Given the description of an element on the screen output the (x, y) to click on. 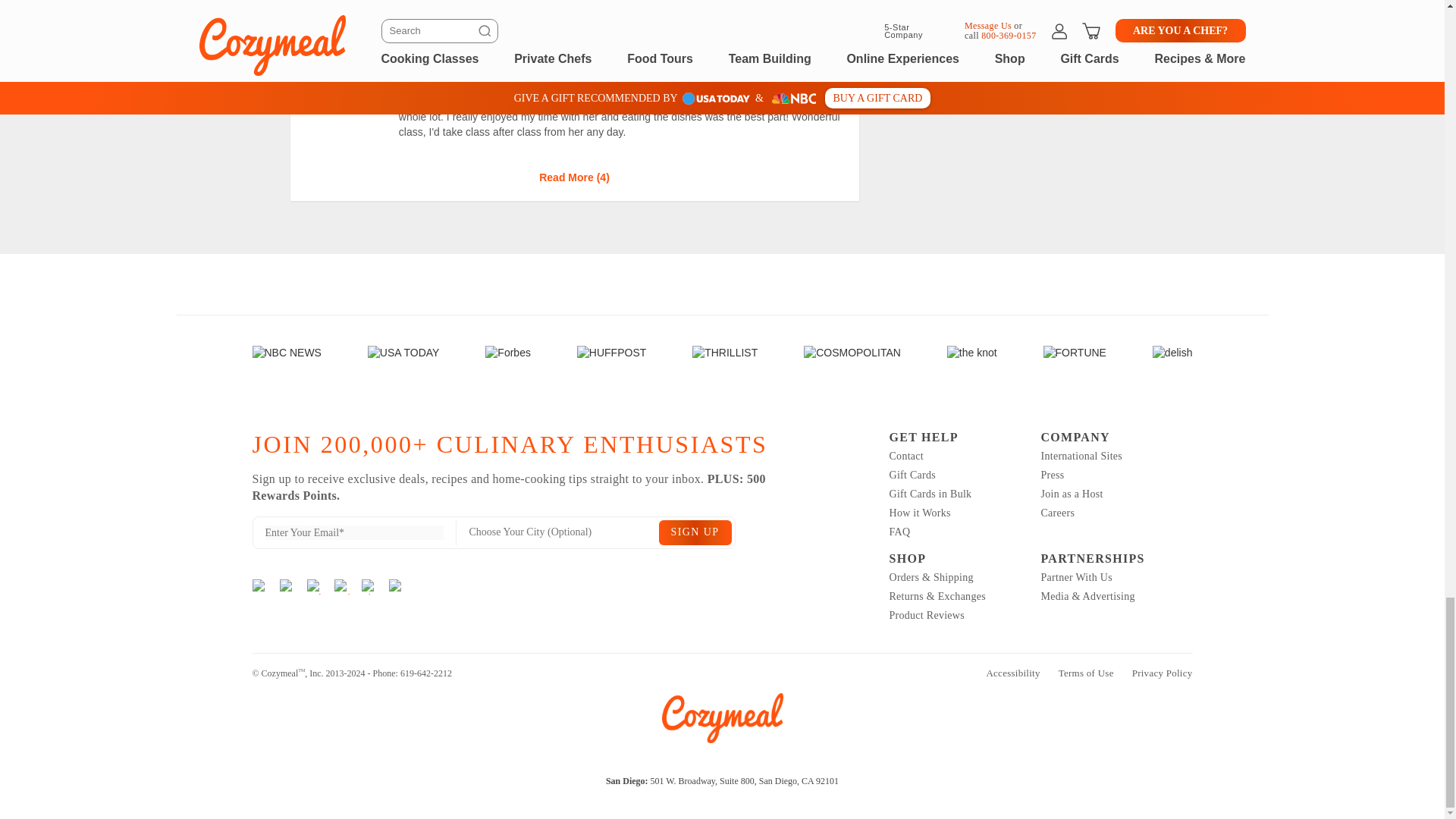
Yelp (313, 585)
Instagram (258, 585)
Twitter (341, 585)
YouTube (395, 585)
Pinterest (368, 585)
Facebook (286, 585)
